Given the description of an element on the screen output the (x, y) to click on. 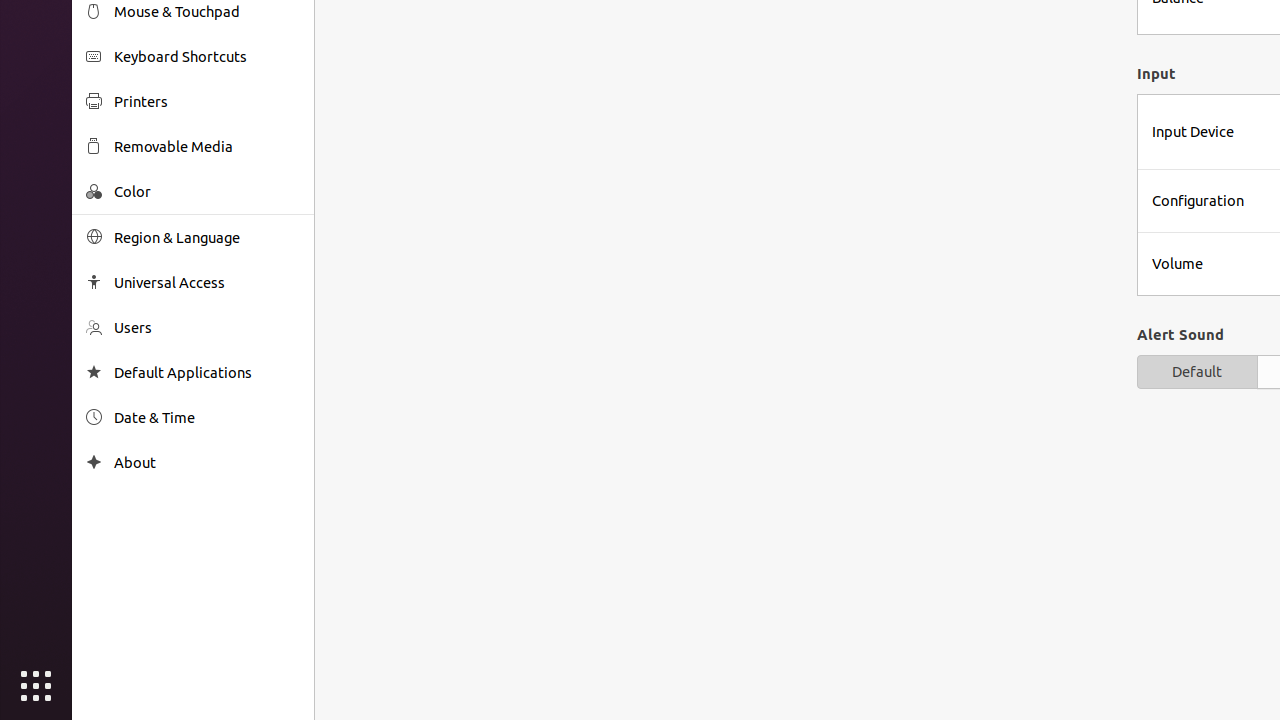
Printers Element type: label (207, 101)
About Element type: label (207, 462)
Removable Media Element type: label (207, 146)
